Given the description of an element on the screen output the (x, y) to click on. 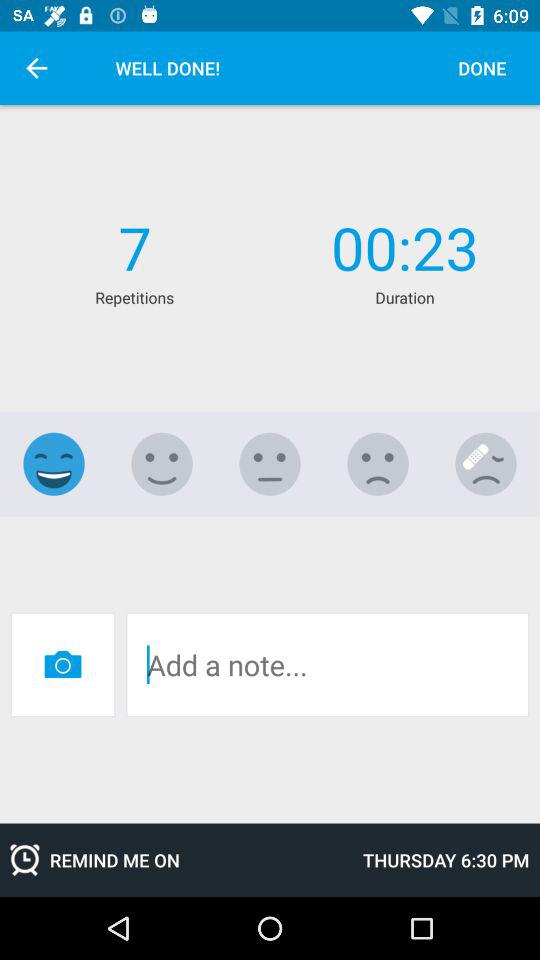
mildly happy emoji (162, 463)
